Given the description of an element on the screen output the (x, y) to click on. 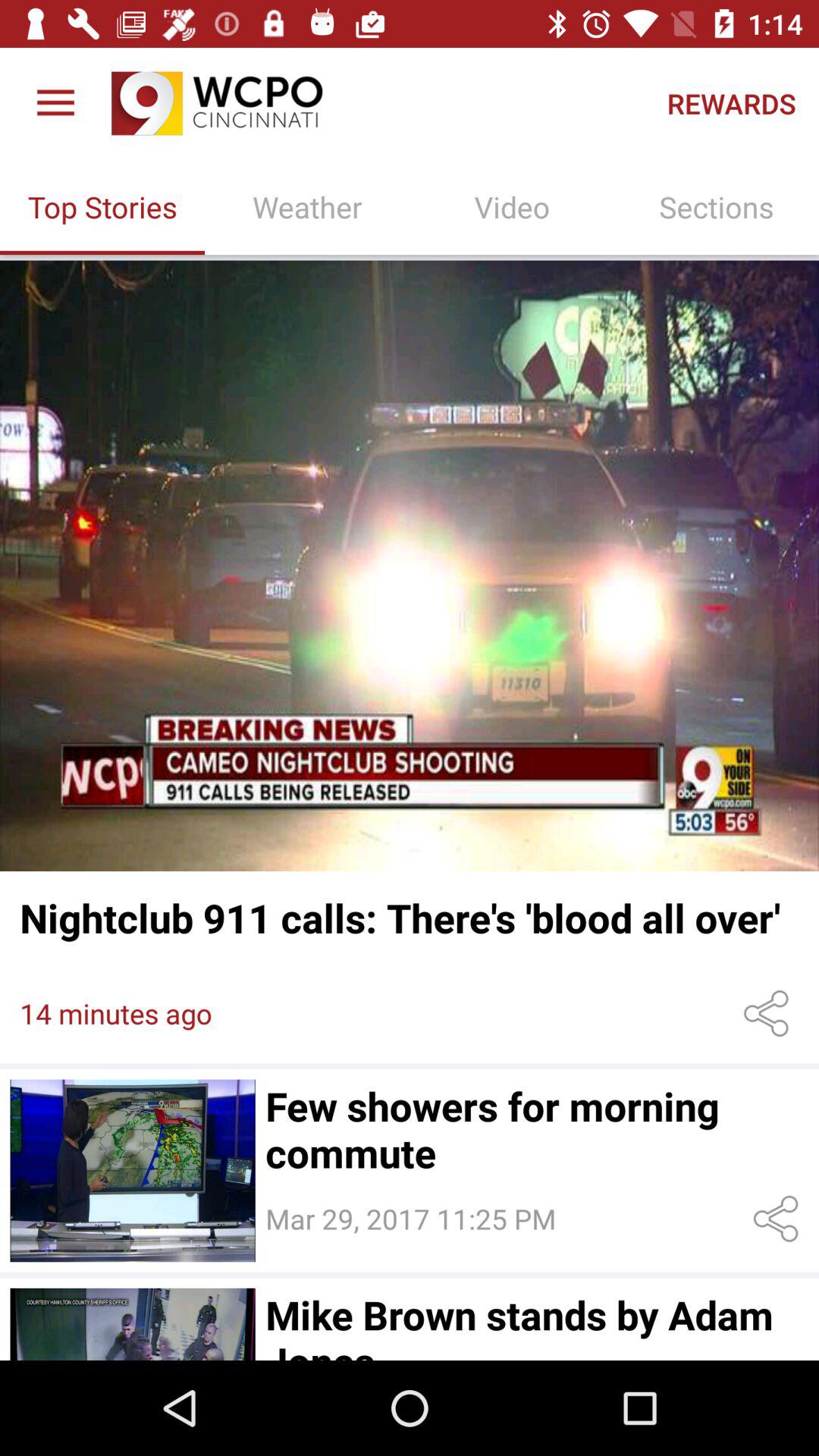
play video (409, 565)
